Given the description of an element on the screen output the (x, y) to click on. 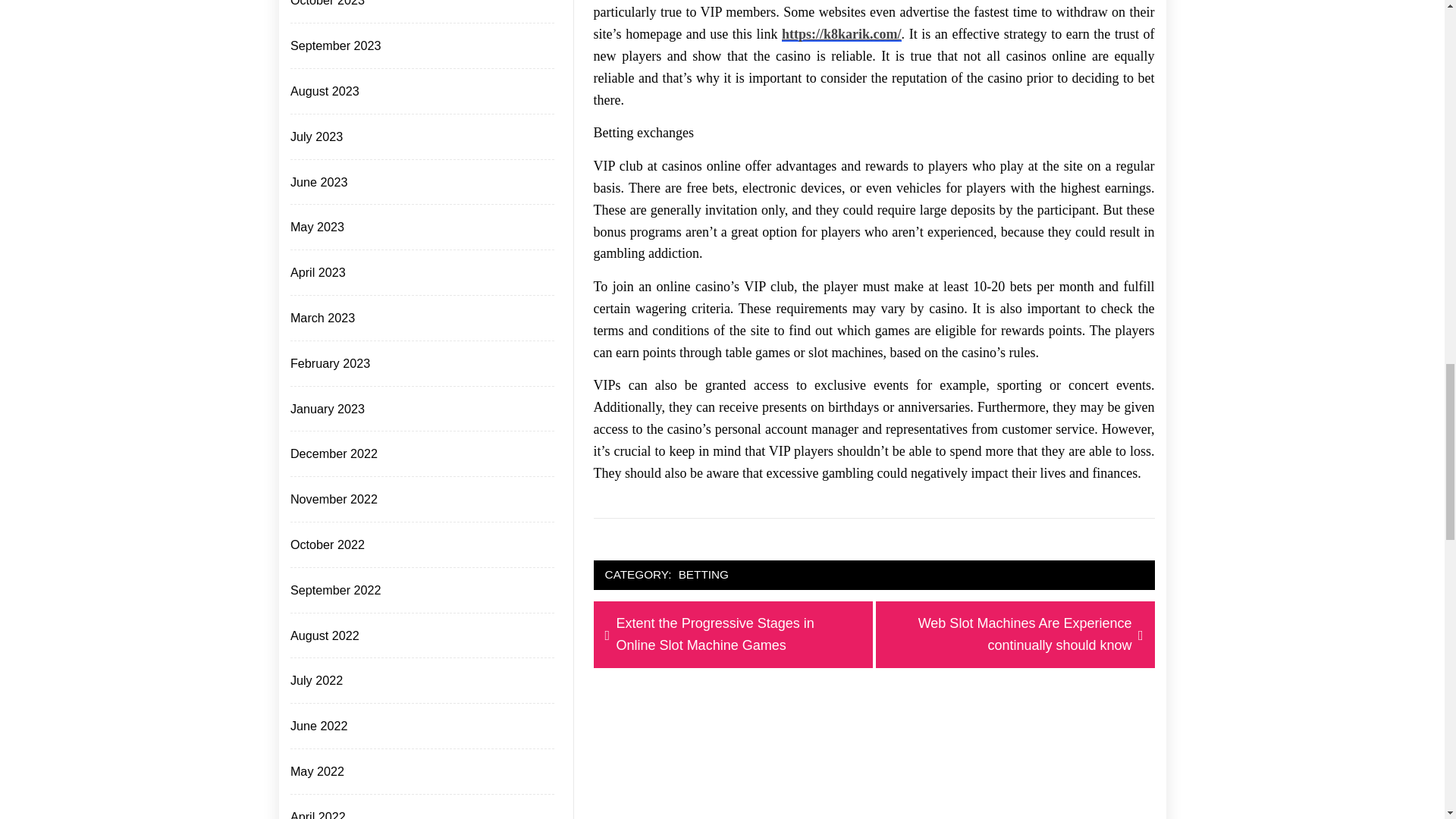
April 2023 (316, 272)
October 2023 (325, 5)
May 2023 (314, 227)
June 2023 (316, 182)
BETTING (703, 575)
September 2023 (333, 45)
August 2023 (322, 91)
July 2023 (314, 137)
